Given the description of an element on the screen output the (x, y) to click on. 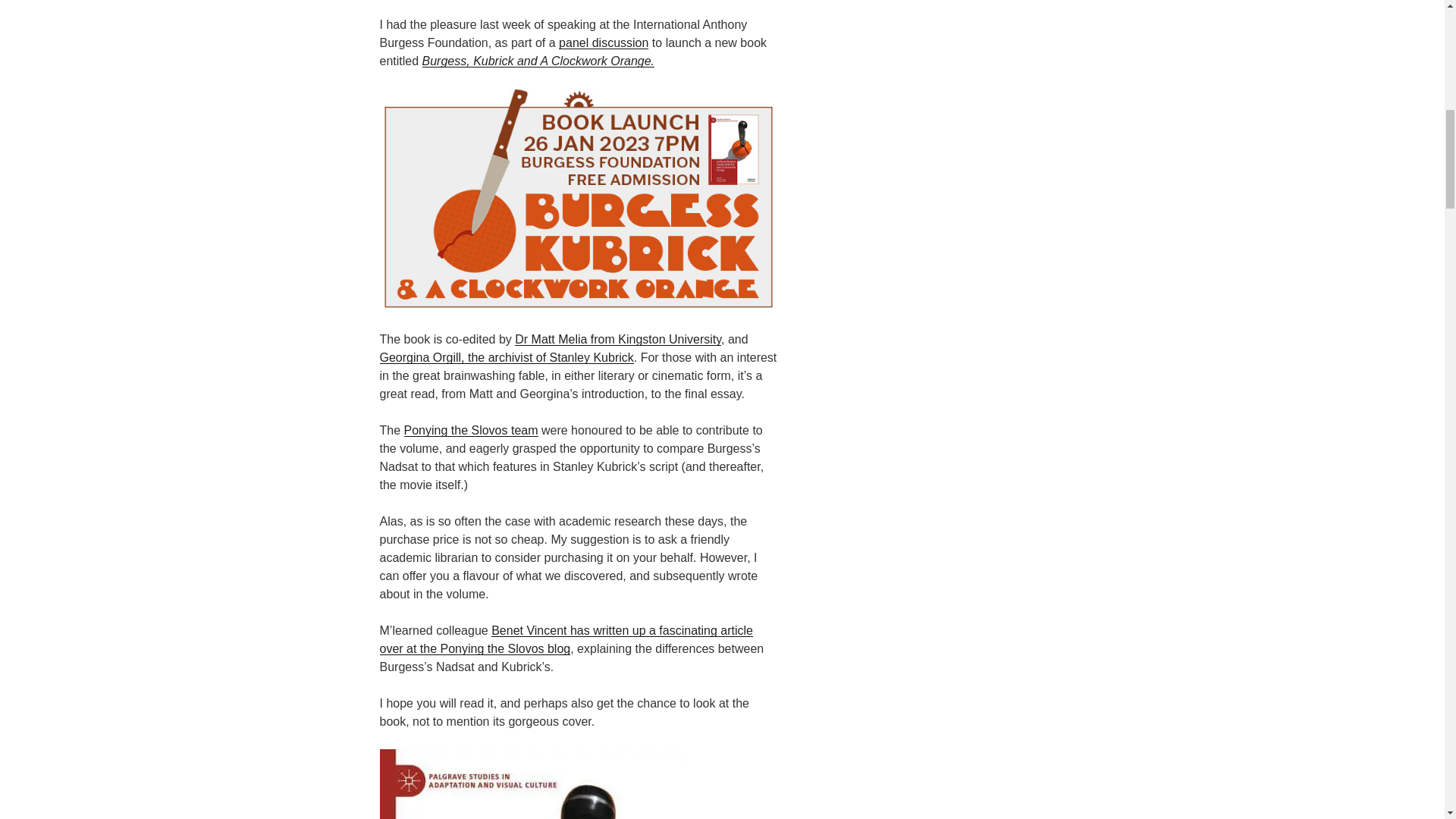
Ponying the Slovos team (471, 430)
Georgina Orgill, the archivist of Stanley Kubrick (505, 357)
panel discussion (603, 42)
Burgess, Kubrick and A Clockwork Orange. (538, 60)
Burgess, Kubrick and A Clockwork Orange. (538, 60)
panel discussion (603, 42)
Dr Matt Melia from Kingston University (617, 338)
Ponying the Slovos team (471, 430)
Dr Matt Melia from Kingston University (617, 338)
Georgina Orgill, the archivist of Stanley Kubrick (505, 357)
